Given the description of an element on the screen output the (x, y) to click on. 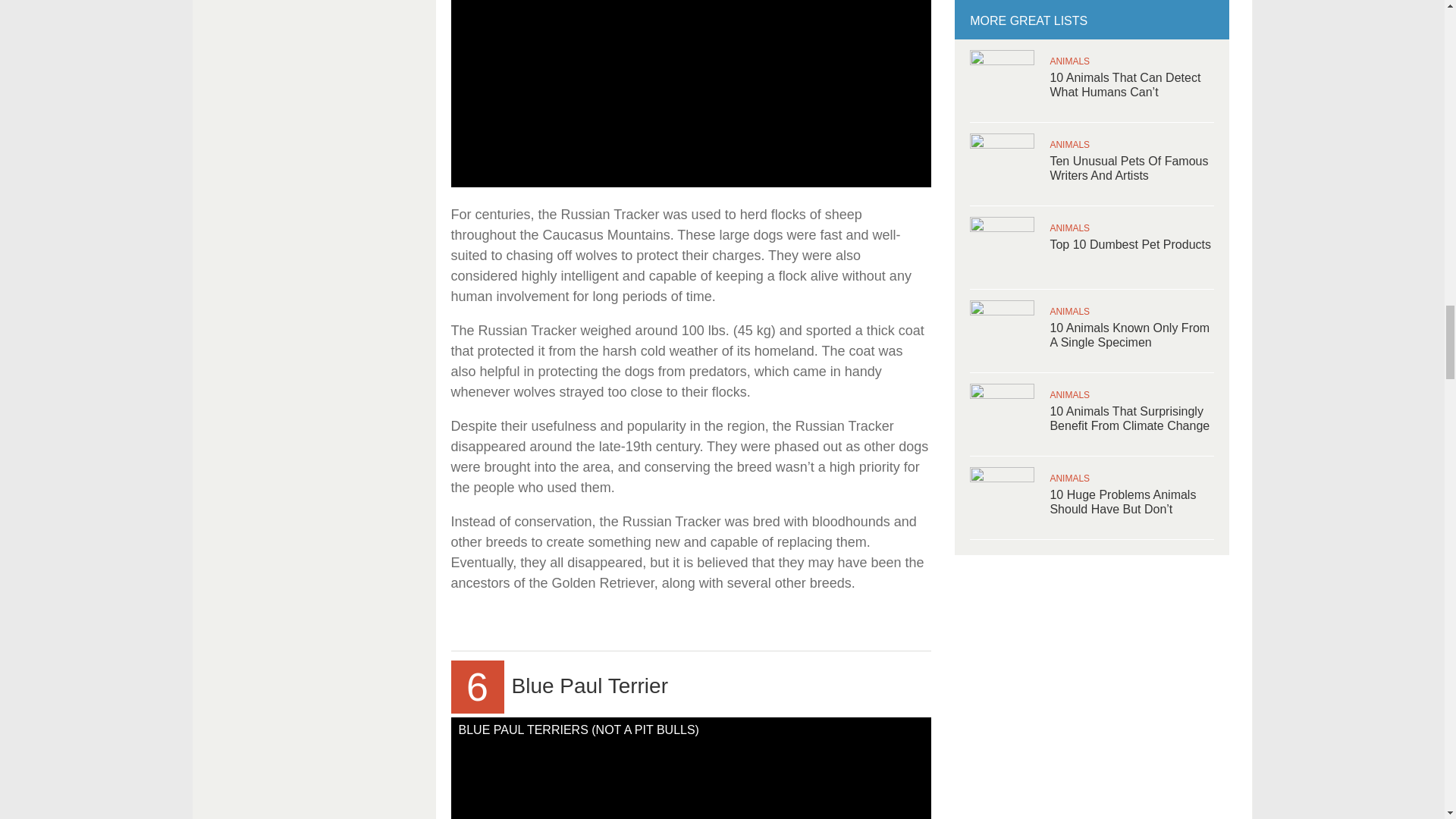
Russian Tracker (689, 93)
